Given the description of an element on the screen output the (x, y) to click on. 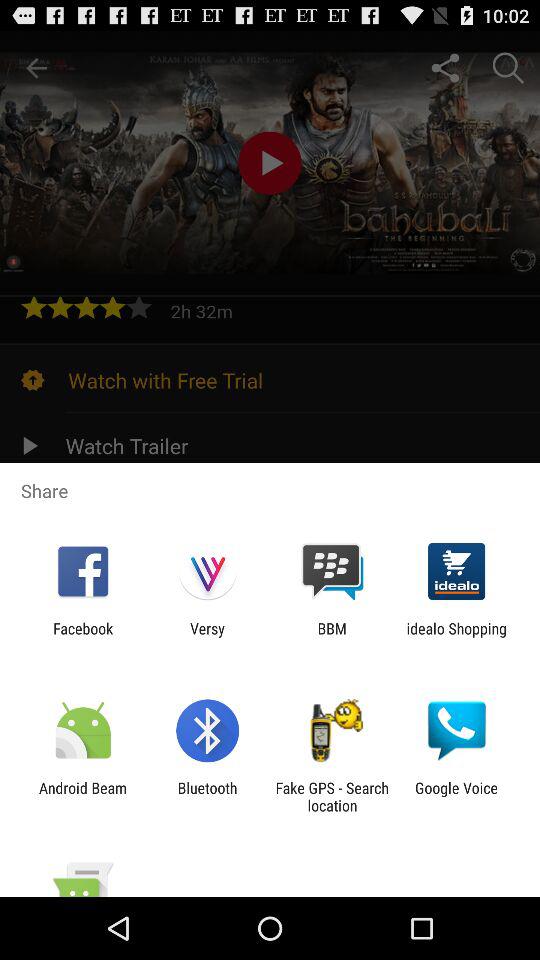
open item to the left of the versy icon (83, 637)
